Given the description of an element on the screen output the (x, y) to click on. 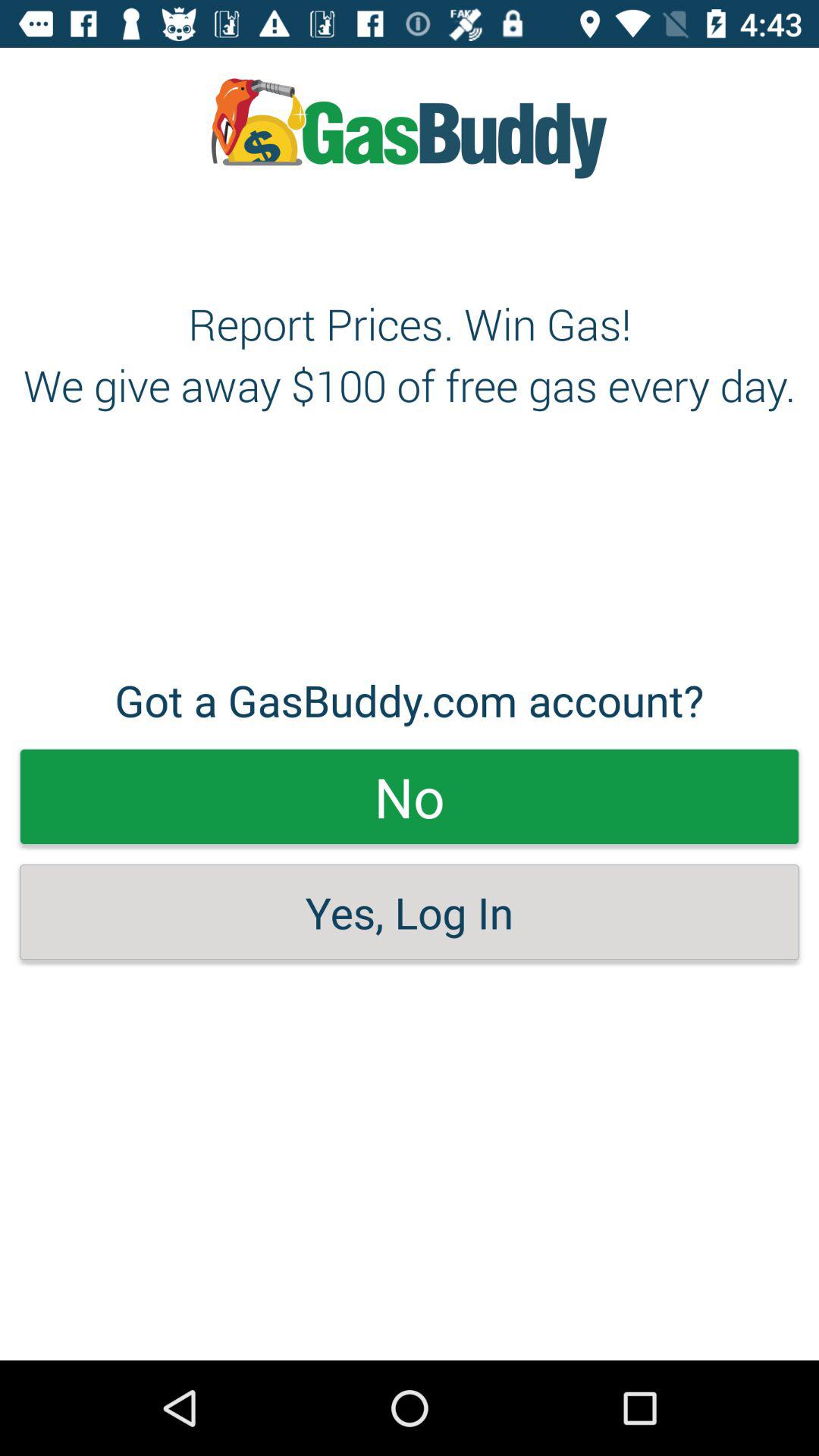
open icon below got a gasbuddy icon (409, 796)
